Given the description of an element on the screen output the (x, y) to click on. 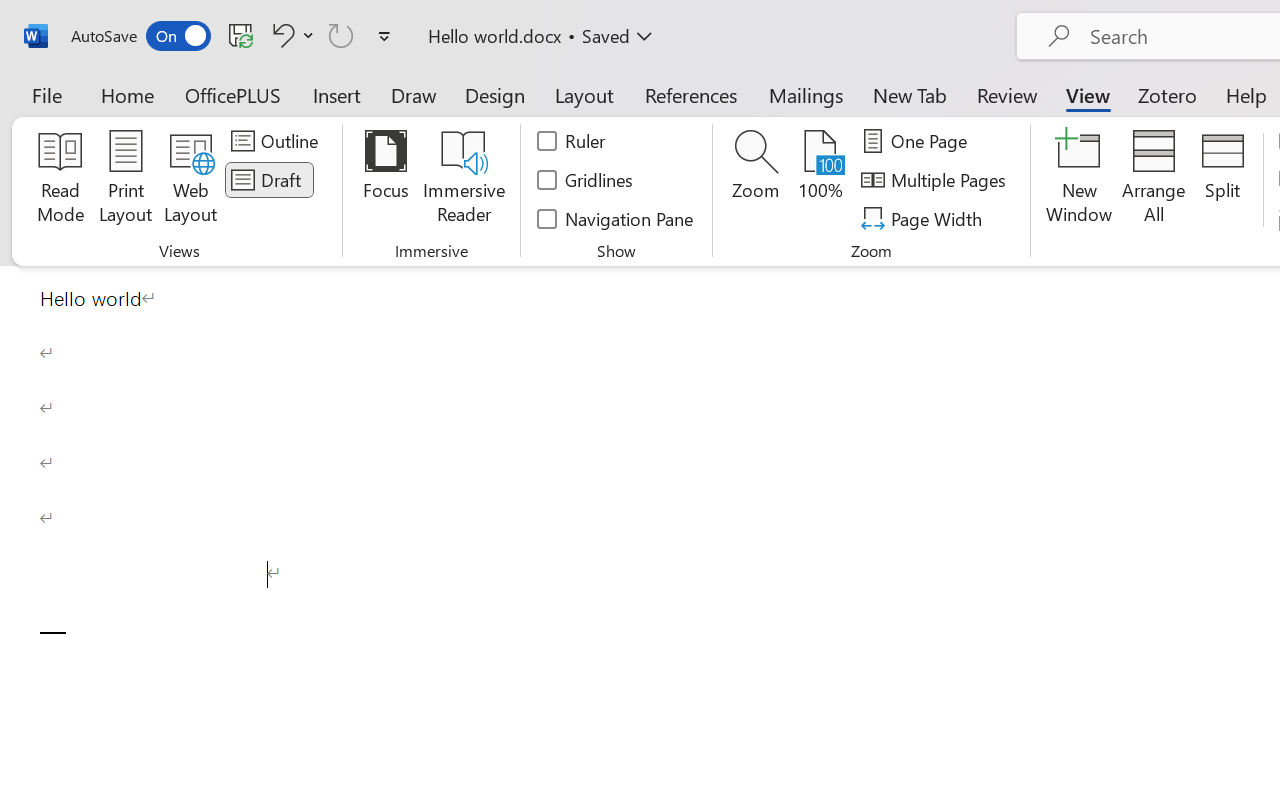
Export to Video (585, 114)
Clear Recording (412, 114)
Save as Show (539, 114)
